Given the description of an element on the screen output the (x, y) to click on. 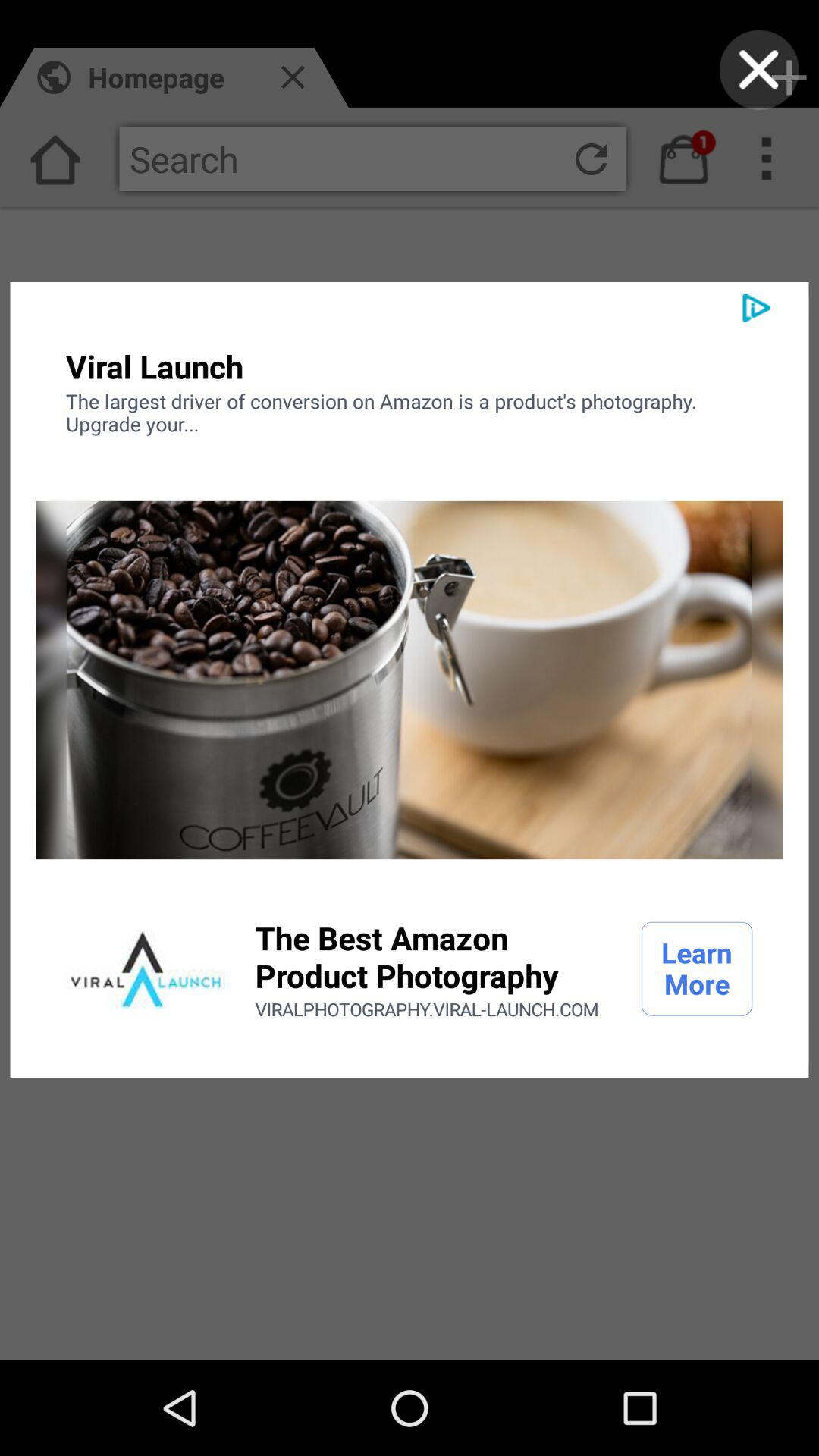
go to application (145, 968)
